Given the description of an element on the screen output the (x, y) to click on. 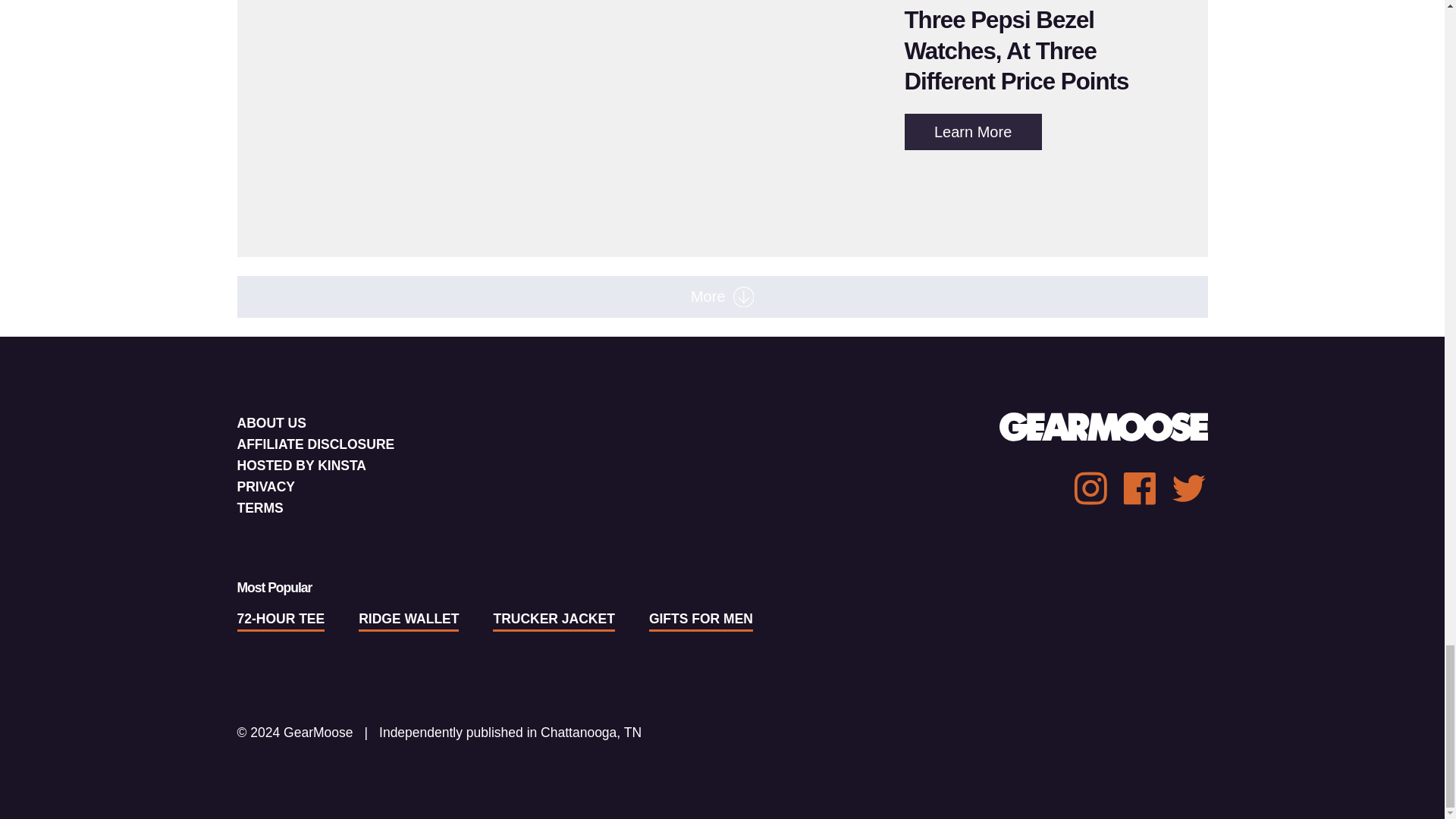
Three Pepsi Bezel Watches, At Three Different Price Points (1016, 50)
More (721, 297)
